Given the description of an element on the screen output the (x, y) to click on. 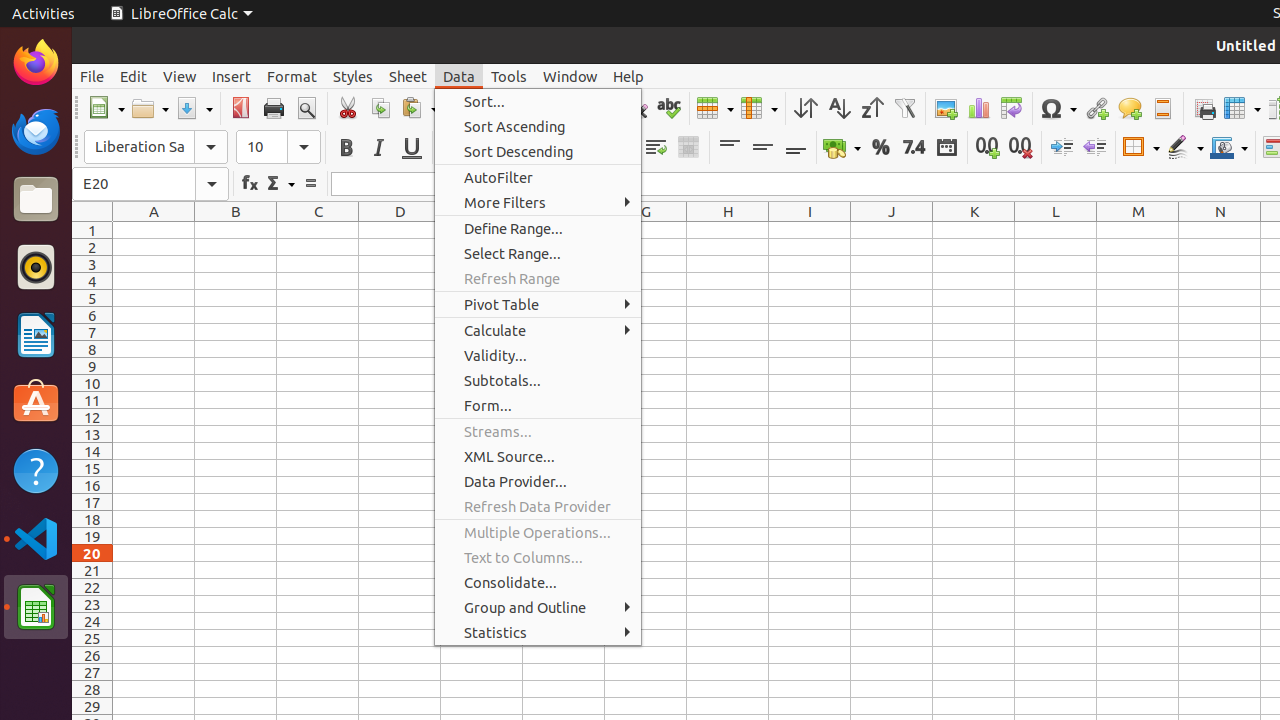
Thunderbird Mail Element type: push-button (36, 131)
Name Box Element type: combo-box (150, 184)
Align Bottom Element type: push-button (795, 147)
Subtotals... Element type: menu-item (538, 380)
Column Element type: push-button (759, 108)
